Given the description of an element on the screen output the (x, y) to click on. 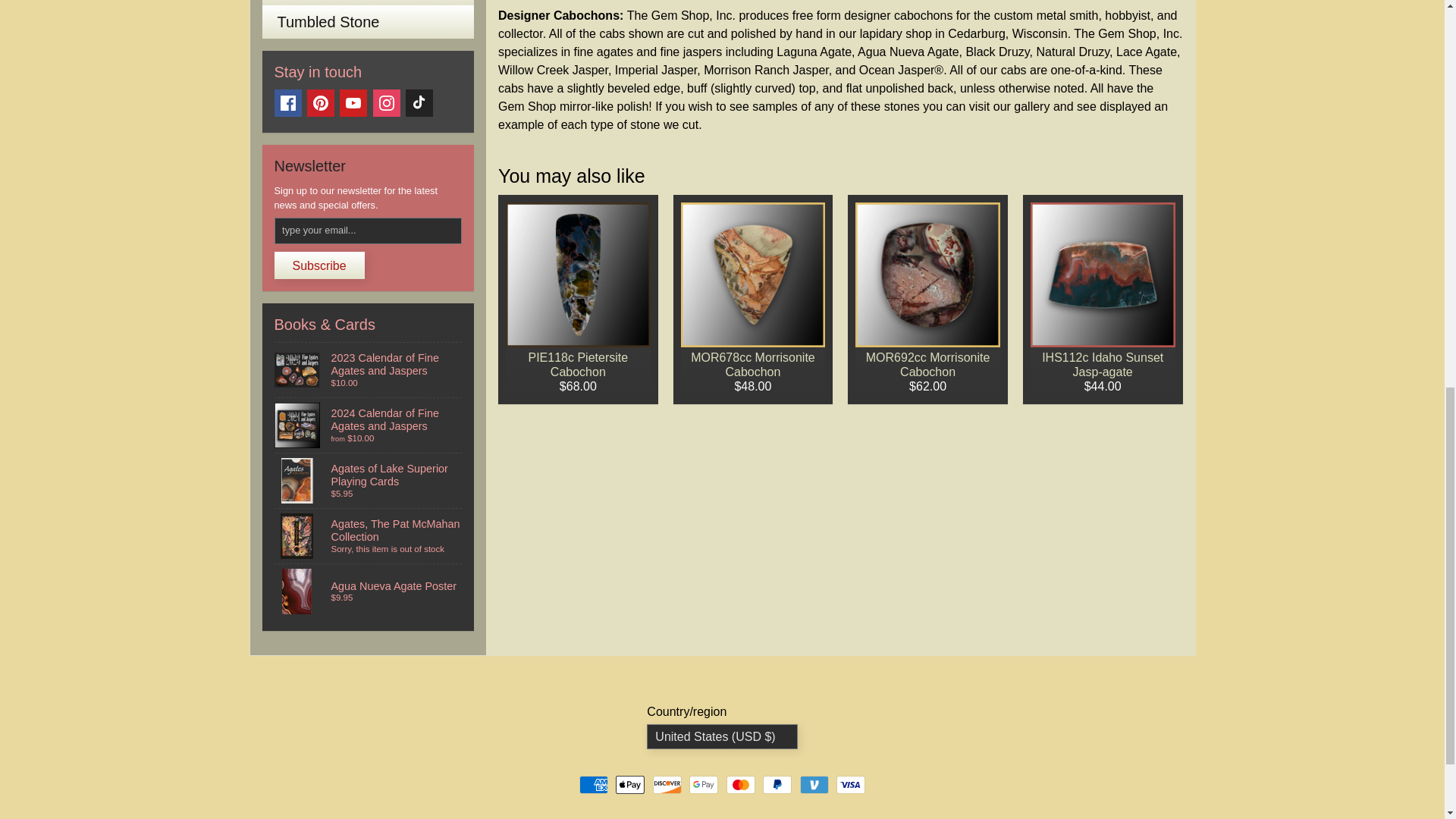
Discover (666, 784)
Agua Nueva Agate Poster (369, 591)
Mastercard (740, 784)
TikTok (419, 103)
Youtube (352, 103)
Google Pay (702, 784)
2024 Calendar of Fine Agates and Jaspers (369, 425)
Agates of Lake Superior Playing Cards (369, 480)
2023 Calendar of Fine Agates and Jaspers (369, 370)
Agates, The Pat McMahan Collection (369, 535)
